Given the description of an element on the screen output the (x, y) to click on. 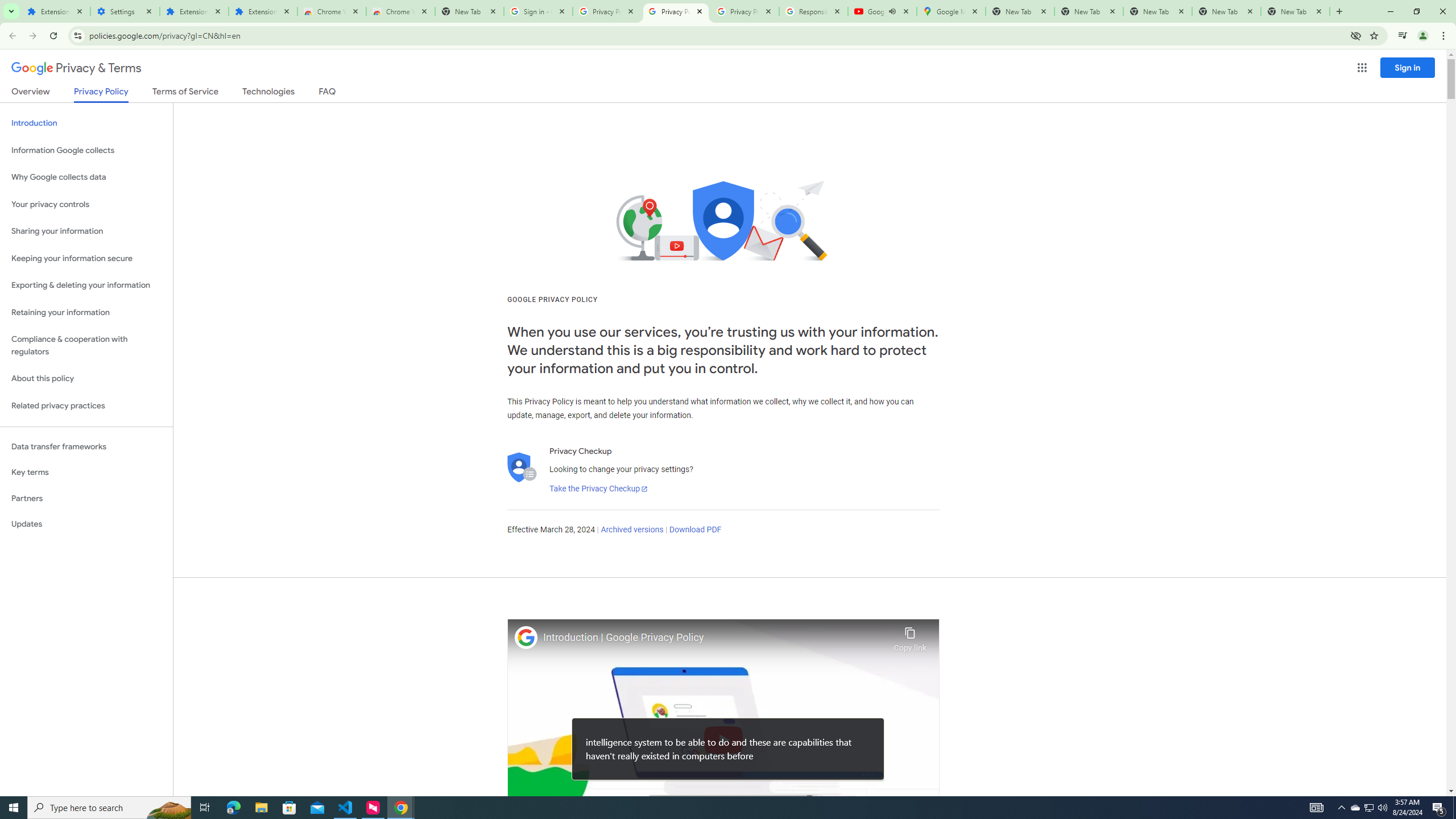
Your privacy controls (86, 204)
Compliance & cooperation with regulators (86, 345)
Keeping your information secure (86, 258)
Sharing your information (86, 230)
Extensions (194, 11)
Terms of Service (184, 93)
Technologies (268, 93)
Extensions (263, 11)
Control your music, videos, and more (1402, 35)
Mute tab (892, 10)
